Given the description of an element on the screen output the (x, y) to click on. 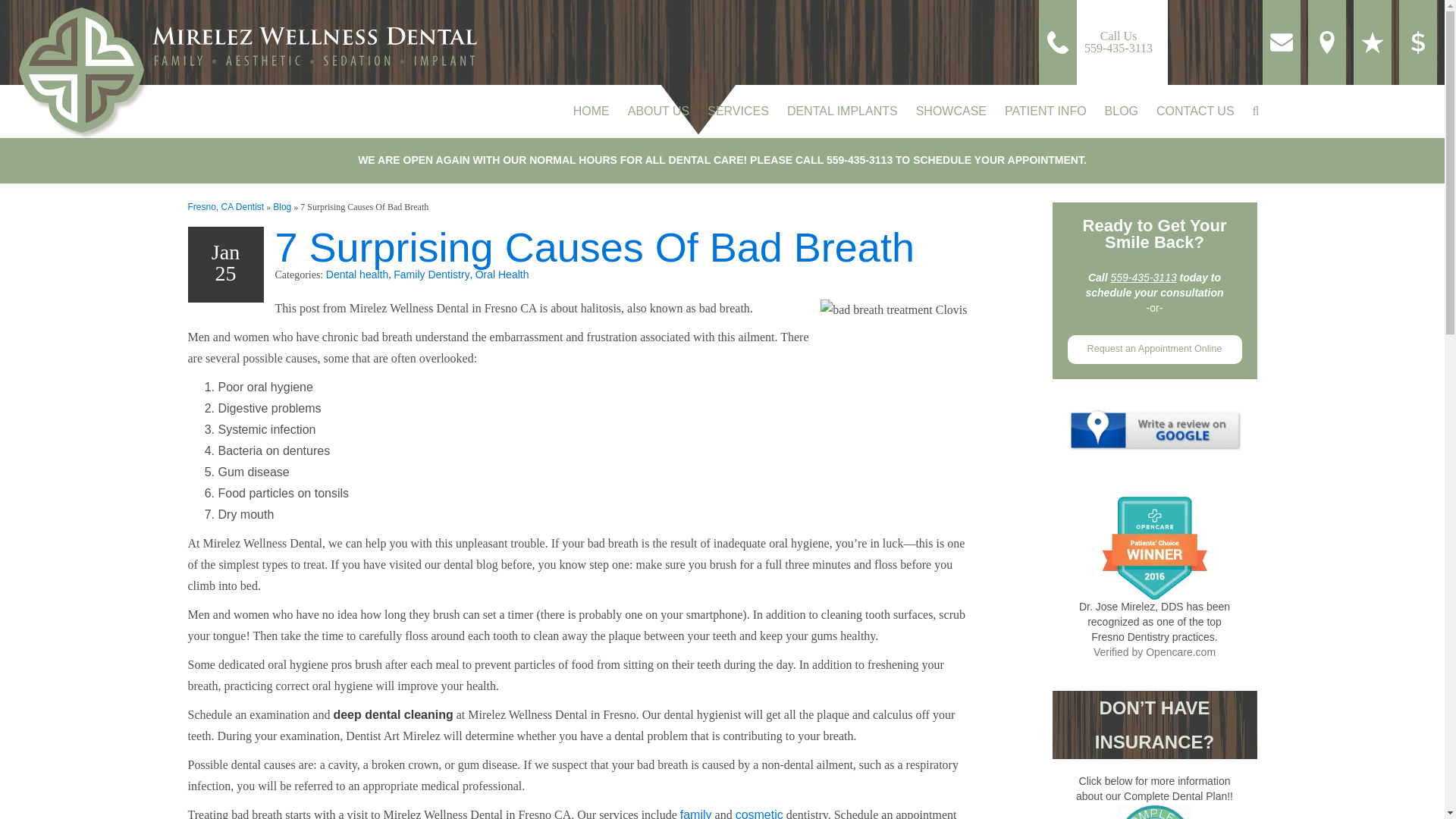
ABOUT US (1099, 42)
HOME (658, 111)
SERVICES (591, 111)
